Given the description of an element on the screen output the (x, y) to click on. 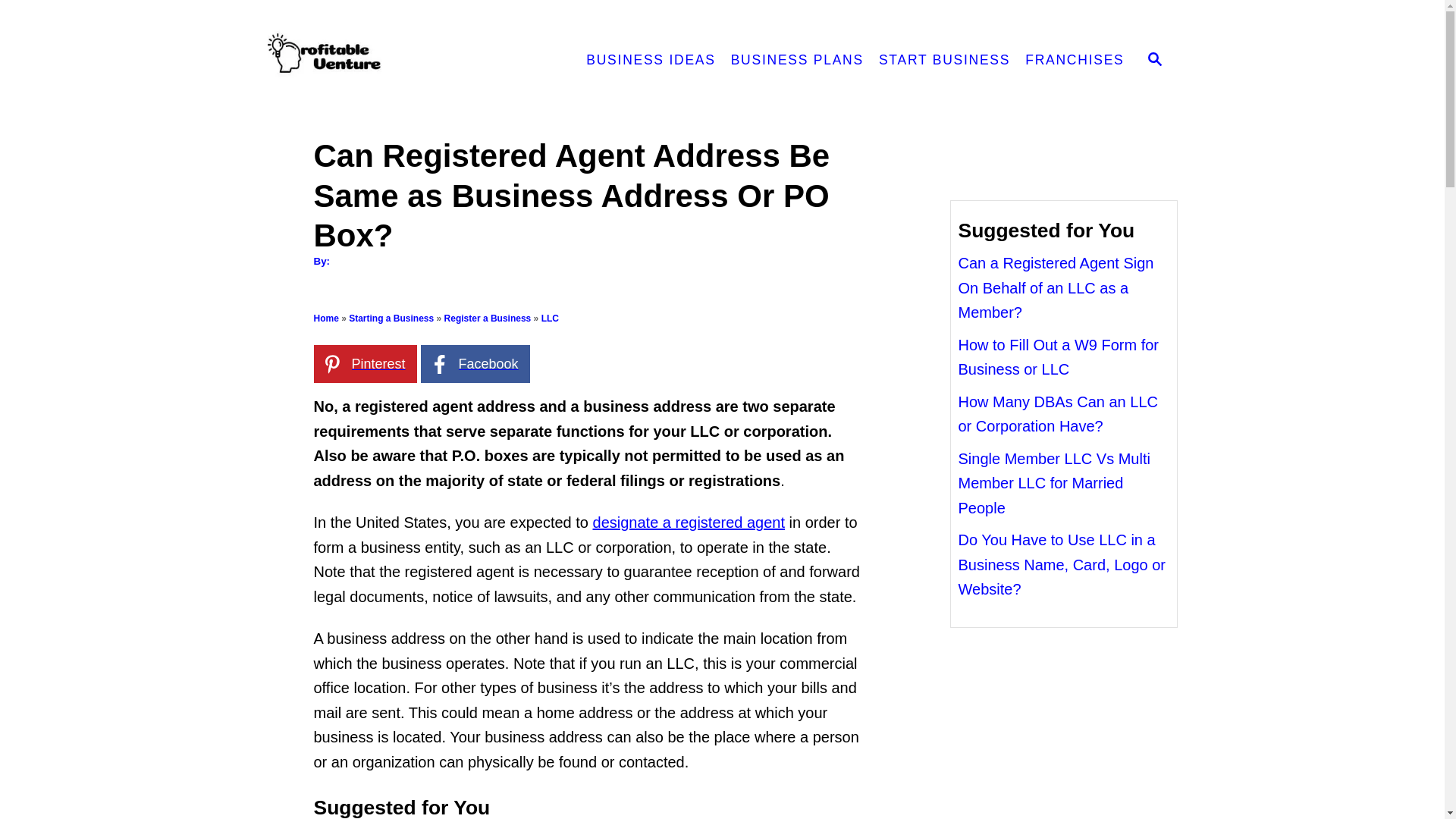
ProfitableVenture (400, 60)
START BUSINESS (943, 60)
designate a registered agent (689, 522)
Can a Registered Agent Sign On Behalf of an LLC as a Member? (1056, 287)
How to Fill Out a W9 Form for Business or LLC (1058, 357)
Home (326, 317)
How to Fill Out a W9 Form for Business or LLC (1058, 357)
SEARCH (1154, 60)
BUSINESS IDEAS (650, 60)
Single Member LLC Vs Multi Member LLC for Married People (1054, 483)
